Given the description of an element on the screen output the (x, y) to click on. 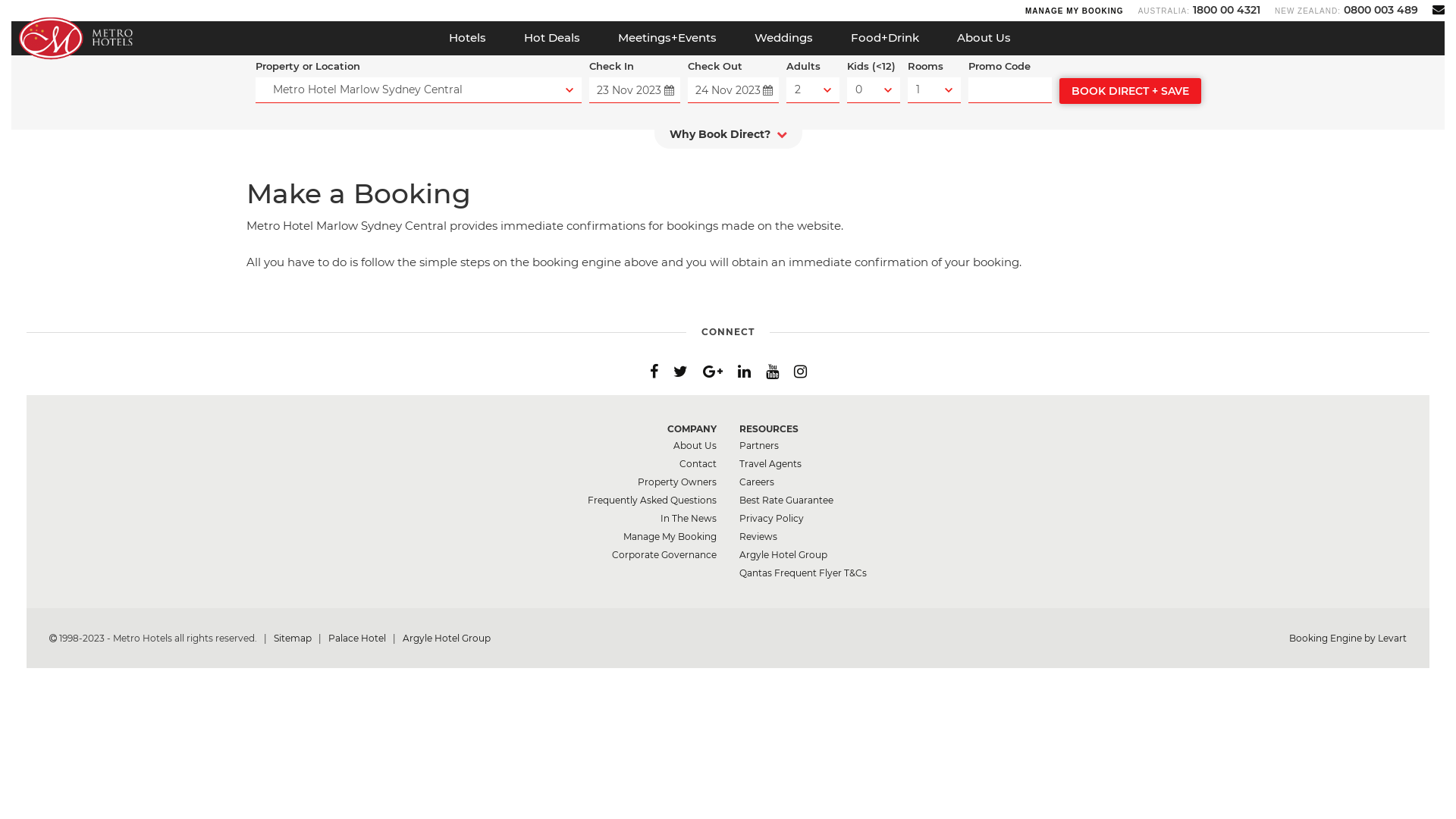
Travel Agents Element type: text (770, 463)
Partners Element type: text (758, 445)
Meetings+Events Element type: text (667, 38)
Argyle Hotel Group Element type: text (446, 637)
In The News Element type: text (688, 518)
Hot Deals Element type: text (552, 38)
Booking Engine by Levart Element type: text (1347, 637)
Frequently Asked Questions Element type: text (651, 499)
BOOK DIRECT + SAVE Element type: text (1129, 90)
Corporate Governance Element type: text (663, 554)
Hotels Element type: text (467, 38)
Property Owners Element type: text (676, 481)
Qantas Frequent Flyer T&Cs Element type: text (802, 572)
Contact Element type: text (697, 463)
Privacy Policy Element type: text (771, 518)
Contact Us Element type: hover (1438, 9)
Manage My Booking Element type: text (669, 536)
Careers Element type: text (756, 481)
Why Book Direct? Element type: text (727, 137)
Best Rate Guarantee Element type: text (786, 499)
Food+Drink Element type: text (884, 38)
About Us Element type: text (983, 38)
Palace Hotel Element type: text (358, 637)
About Us Element type: text (694, 445)
Argyle Hotel Group Element type: text (783, 554)
Sitemap Element type: text (293, 637)
MANAGE MY BOOKING Element type: text (1074, 10)
Weddings Element type: text (783, 38)
Reviews Element type: text (758, 536)
